Given the description of an element on the screen output the (x, y) to click on. 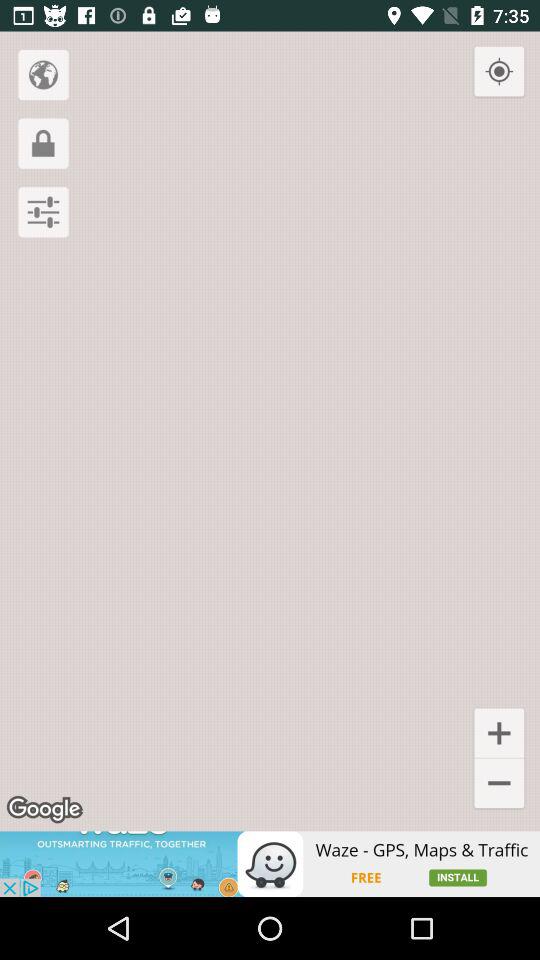
navigate the world (43, 74)
